Given the description of an element on the screen output the (x, y) to click on. 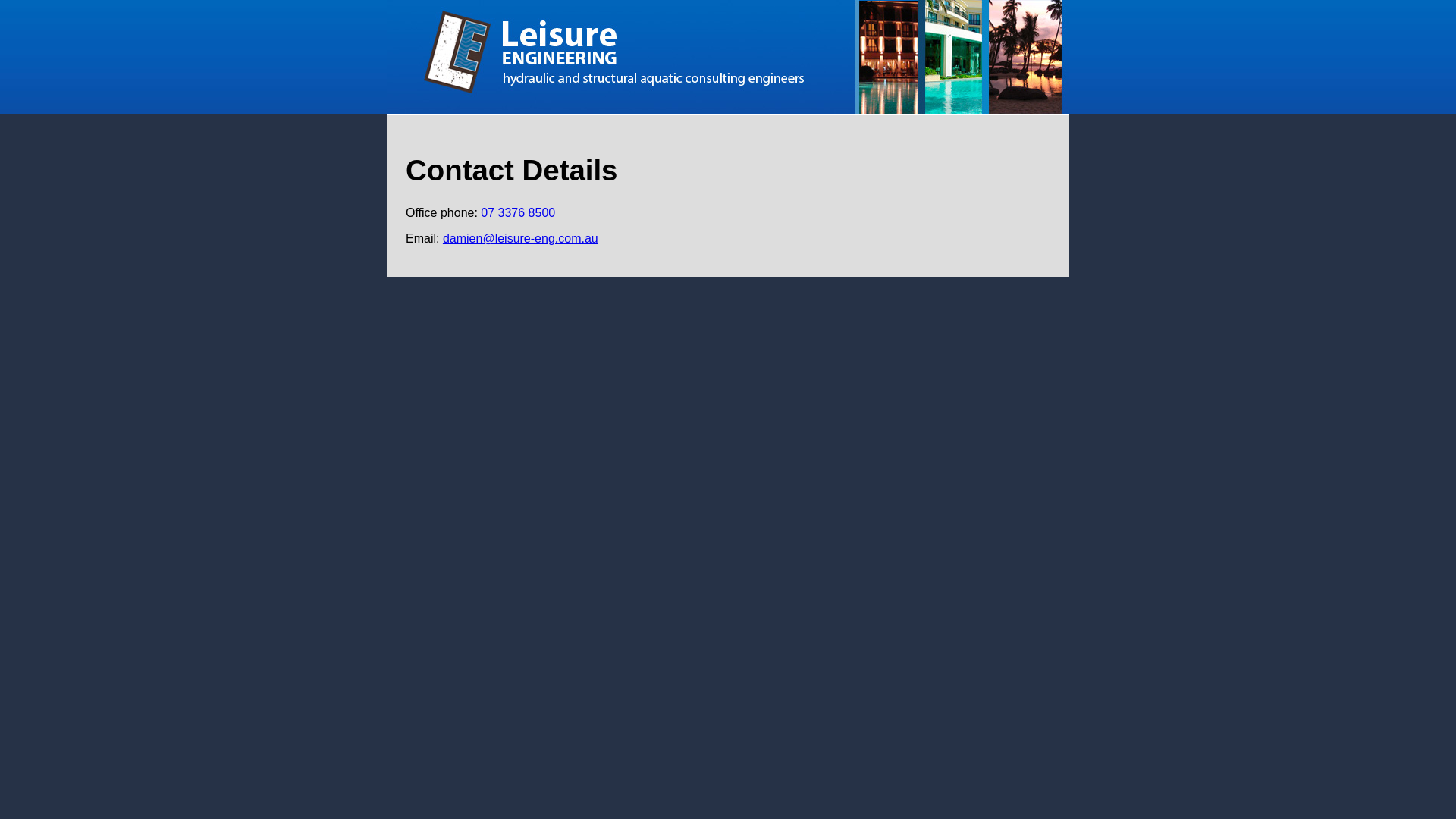
07 3376 8500 Element type: text (517, 212)
damien@leisure-eng.com.au Element type: text (520, 238)
